Given the description of an element on the screen output the (x, y) to click on. 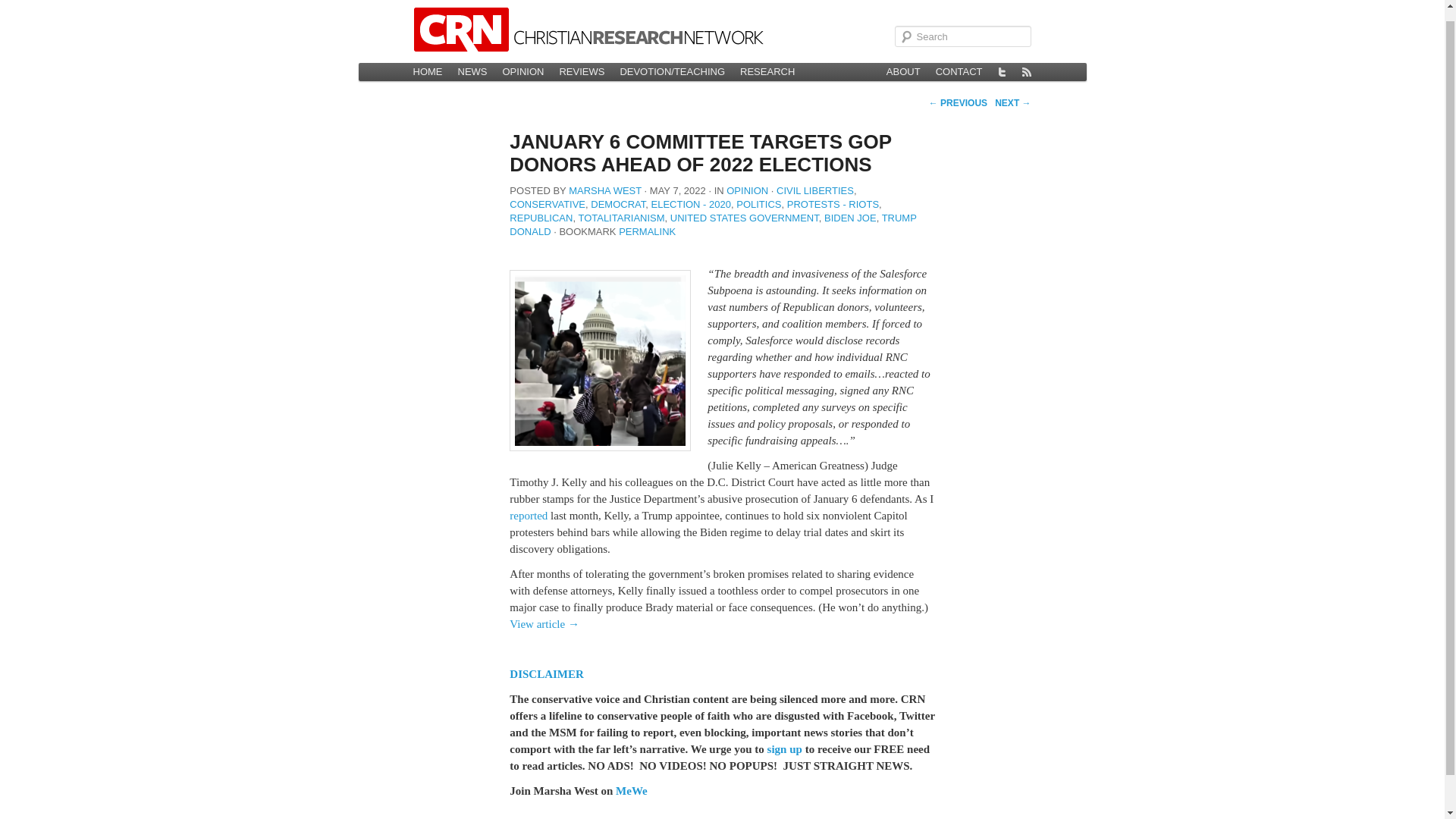
MeWe (631, 790)
PERMALINK (646, 231)
ELECTION - 2020 (690, 204)
Skip to secondary content (479, 72)
Skip to primary content (472, 72)
reported (528, 515)
REVIEWS (581, 72)
DISCLAIMER (546, 674)
TOTALITARIANISM (620, 217)
Skip to secondary content (479, 72)
View all posts by Marsha West (605, 190)
REPUBLICAN (540, 217)
DEMOCRAT (618, 204)
HOME (426, 72)
